Given the description of an element on the screen output the (x, y) to click on. 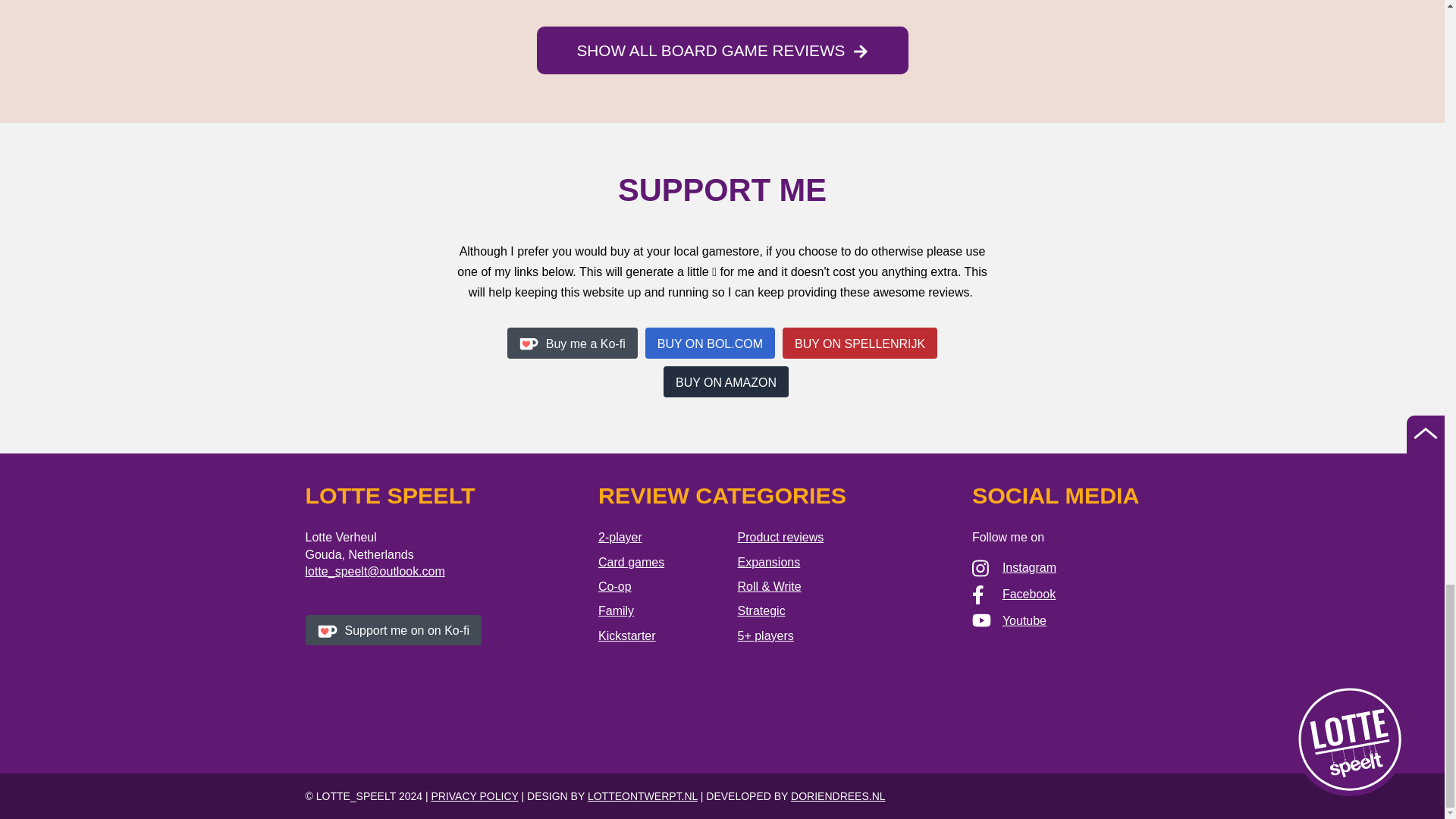
Support me on on Ko-fi (392, 630)
Card games (630, 562)
SHOW ALL BOARD GAME REVIEWS (722, 50)
2-player (620, 536)
BUY ON AMAZON (726, 381)
Buy me a Ko-fi (571, 341)
BUY ON SPELLENRIJK (860, 341)
BUY ON BOL.COM (709, 341)
